Given the description of an element on the screen output the (x, y) to click on. 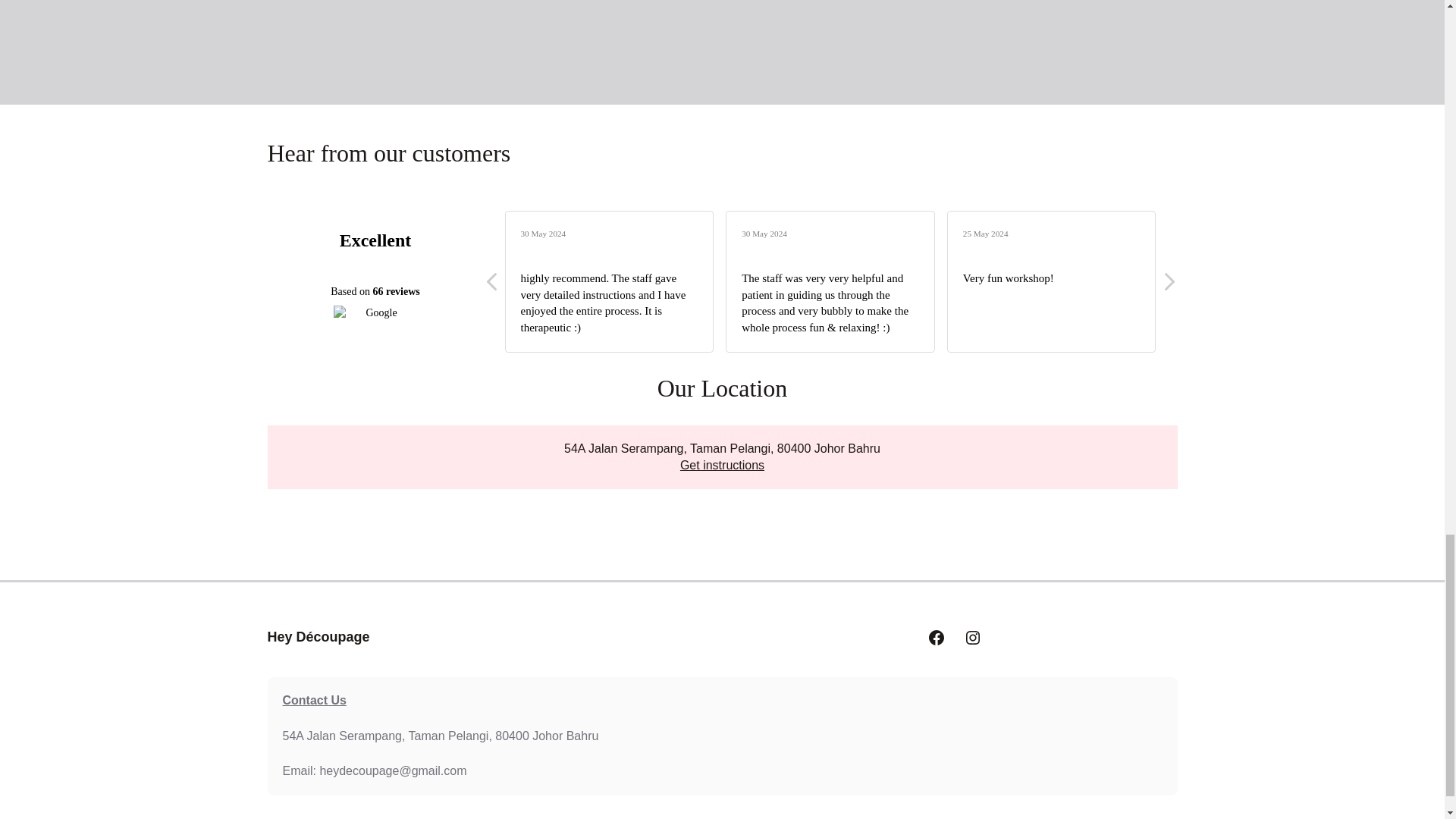
Get instructions (721, 464)
Instagram (971, 637)
Facebook (935, 637)
